Given the description of an element on the screen output the (x, y) to click on. 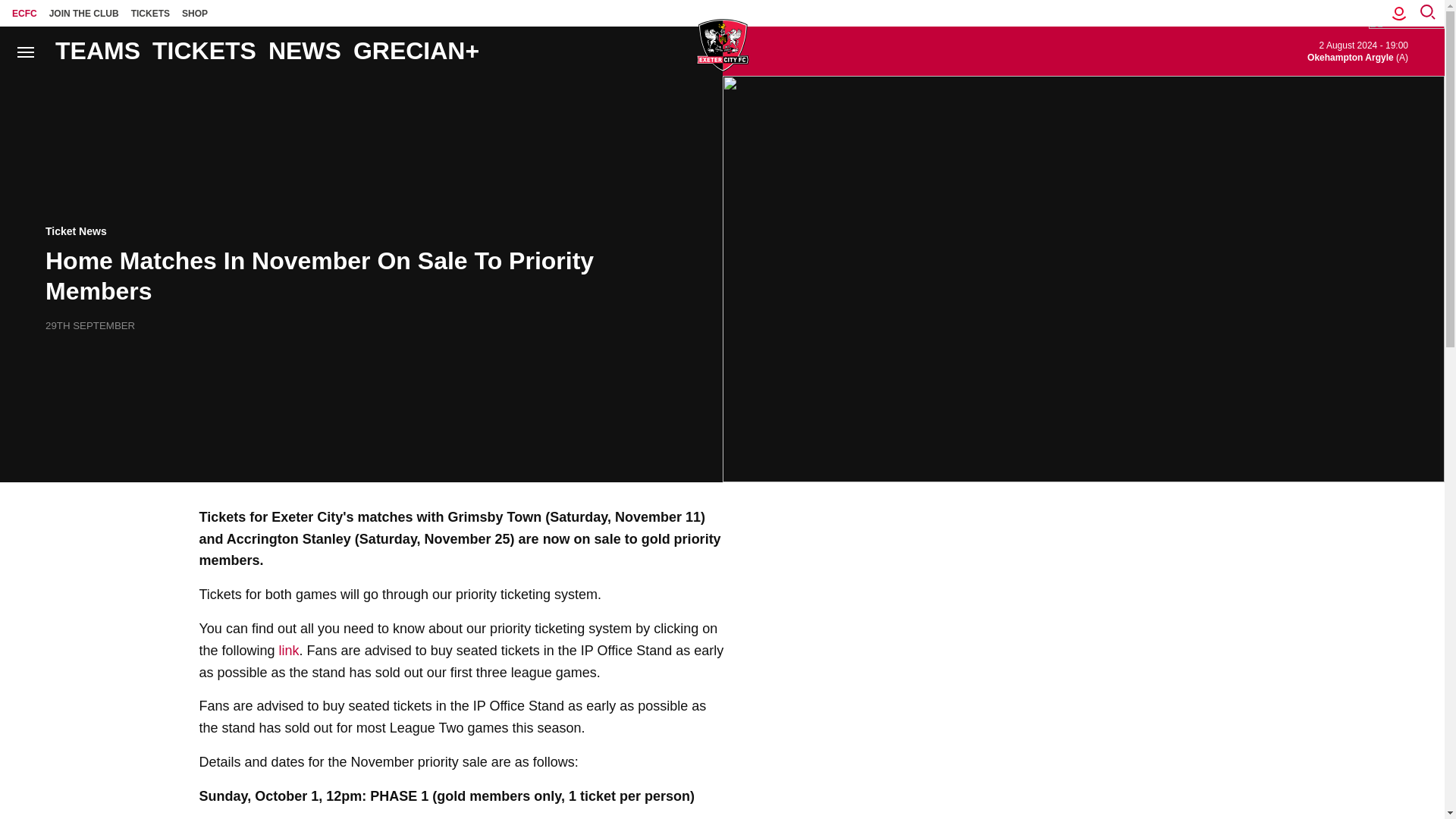
ECFC (24, 13)
JOIN THE CLUB (84, 13)
SHOP (195, 13)
TICKETS (150, 13)
